Given the description of an element on the screen output the (x, y) to click on. 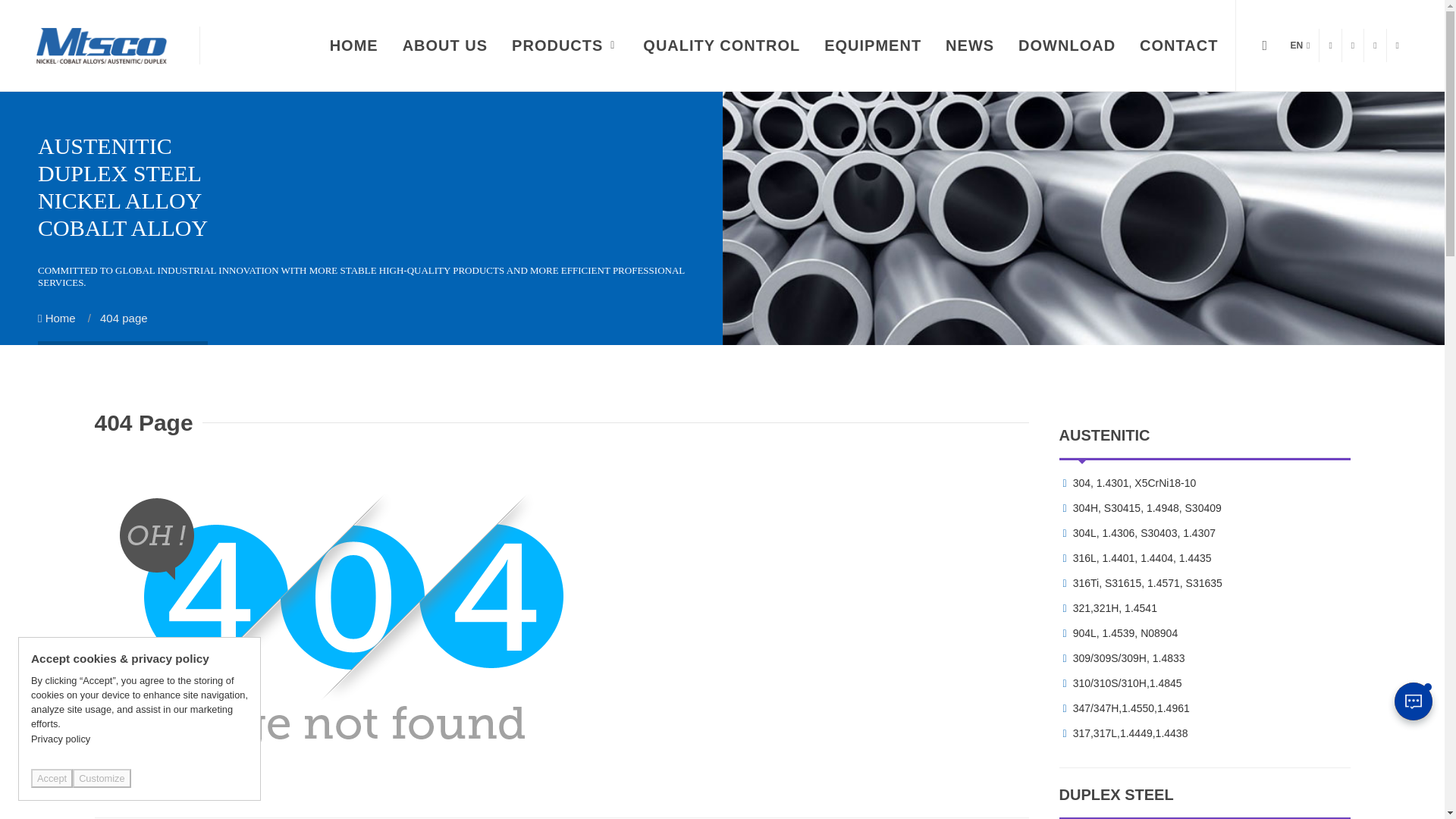
DOWNLOAD (1066, 45)
CONTACT (1178, 45)
404 page (124, 318)
Home (56, 318)
304, 1.4301, X5CrNi18-10 (1135, 483)
ABOUT US (445, 45)
EN (1300, 45)
EQUIPMENT (872, 45)
QUALITY CONTROL (720, 45)
